Given the description of an element on the screen output the (x, y) to click on. 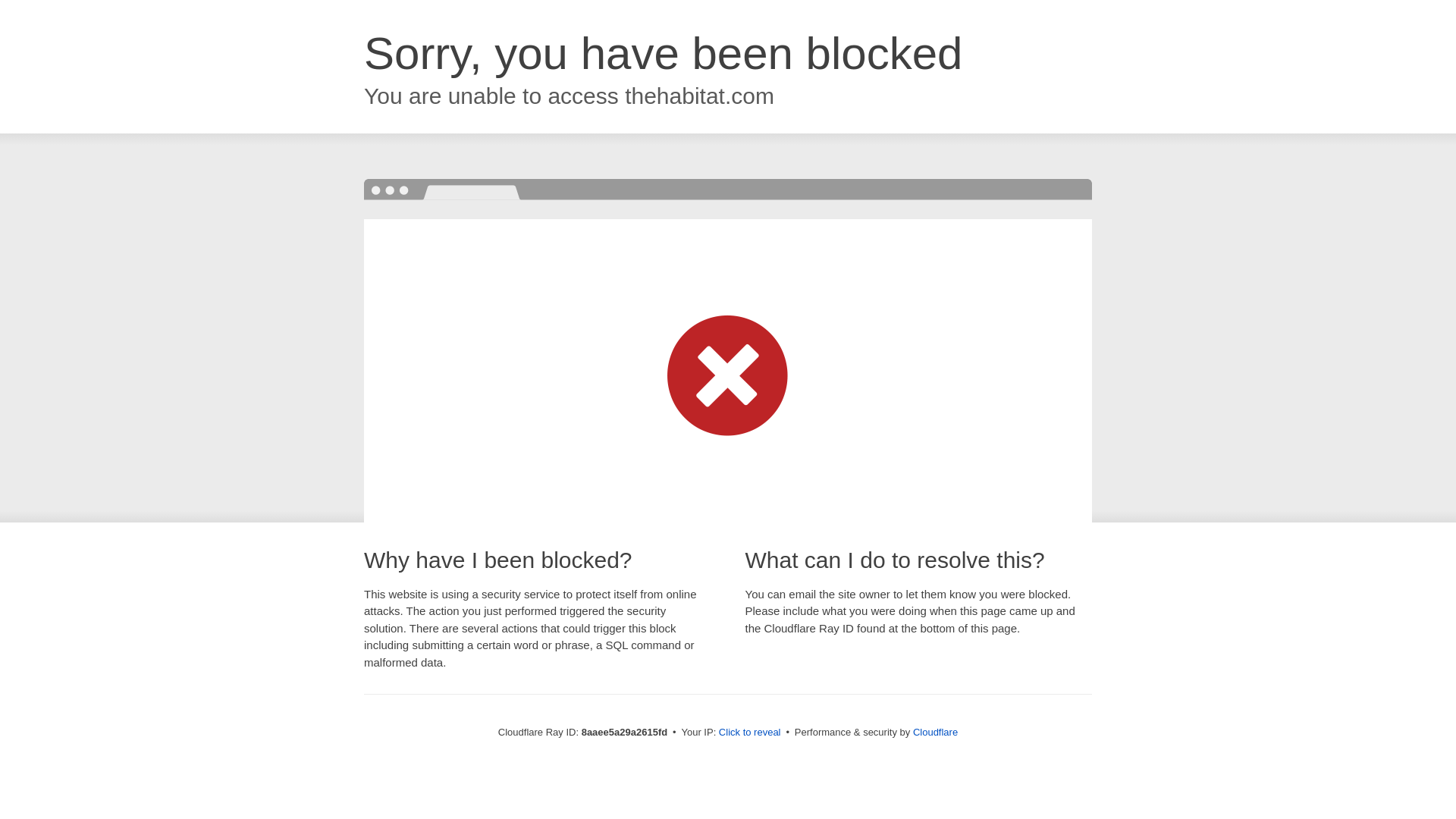
Cloudflare (935, 731)
Click to reveal (749, 732)
